Given the description of an element on the screen output the (x, y) to click on. 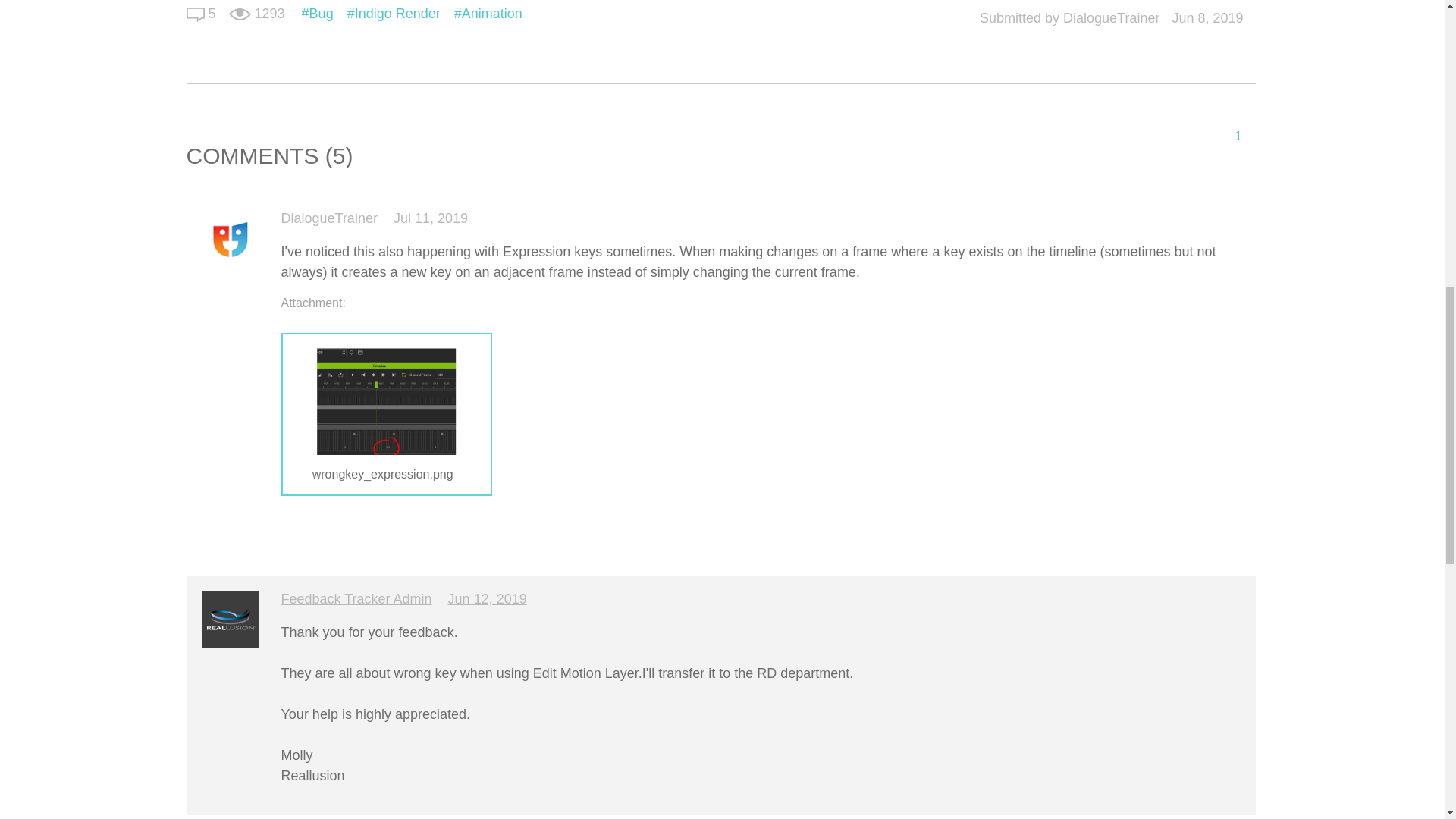
Animation (488, 13)
Indigo Render (394, 13)
Bug (317, 13)
Comments (195, 14)
Views (239, 14)
